Given the description of an element on the screen output the (x, y) to click on. 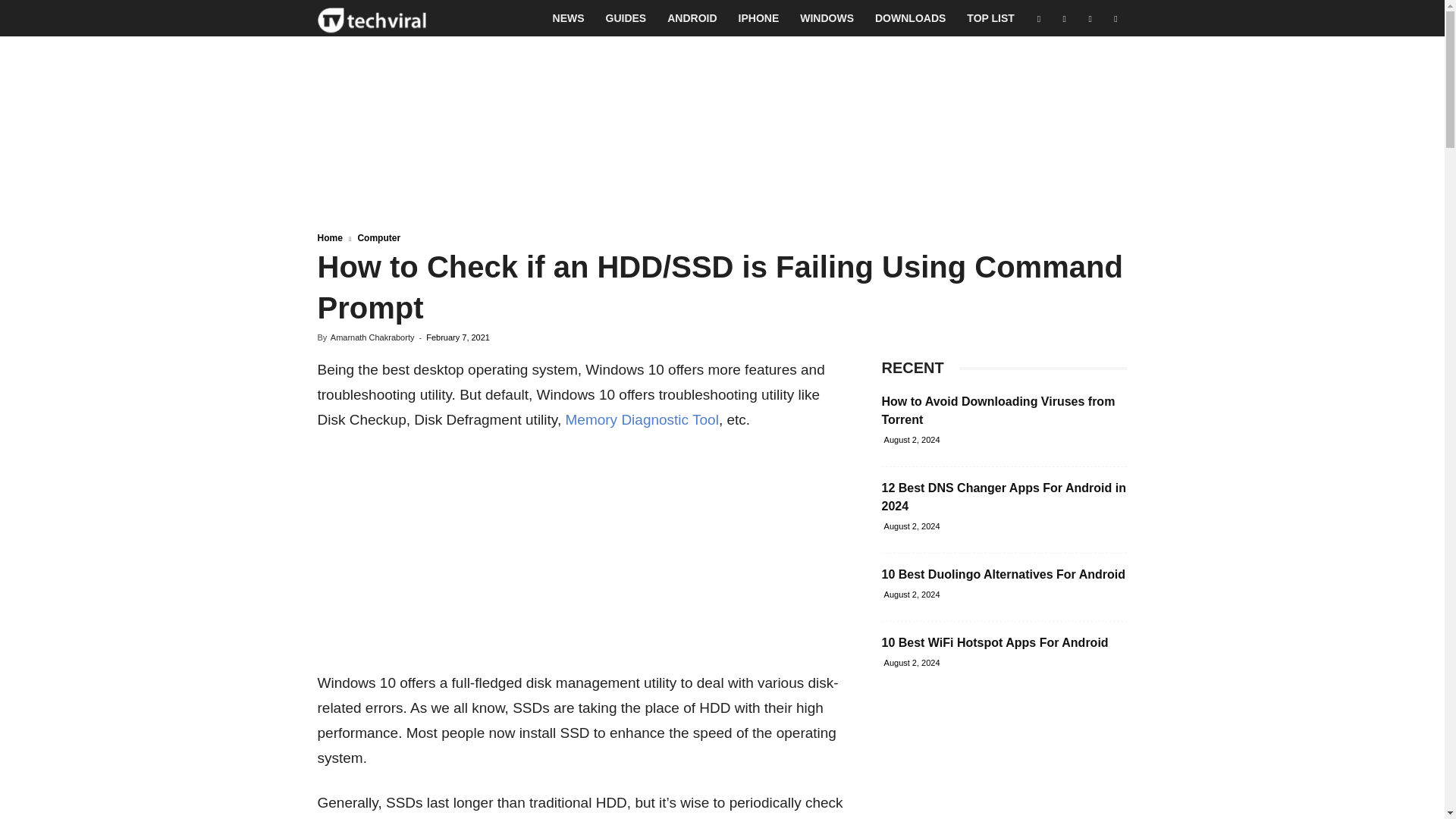
Memory Diagnostic Tool (640, 419)
WINDOWS (826, 18)
Amarnath Chakraborty (372, 337)
TOP LIST (990, 18)
NEWS (568, 18)
IPHONE (759, 18)
GUIDES (626, 18)
DOWNLOADS (910, 18)
Tech Viral (371, 18)
ANDROID (691, 18)
TechViral (371, 18)
Home (329, 237)
